Given the description of an element on the screen output the (x, y) to click on. 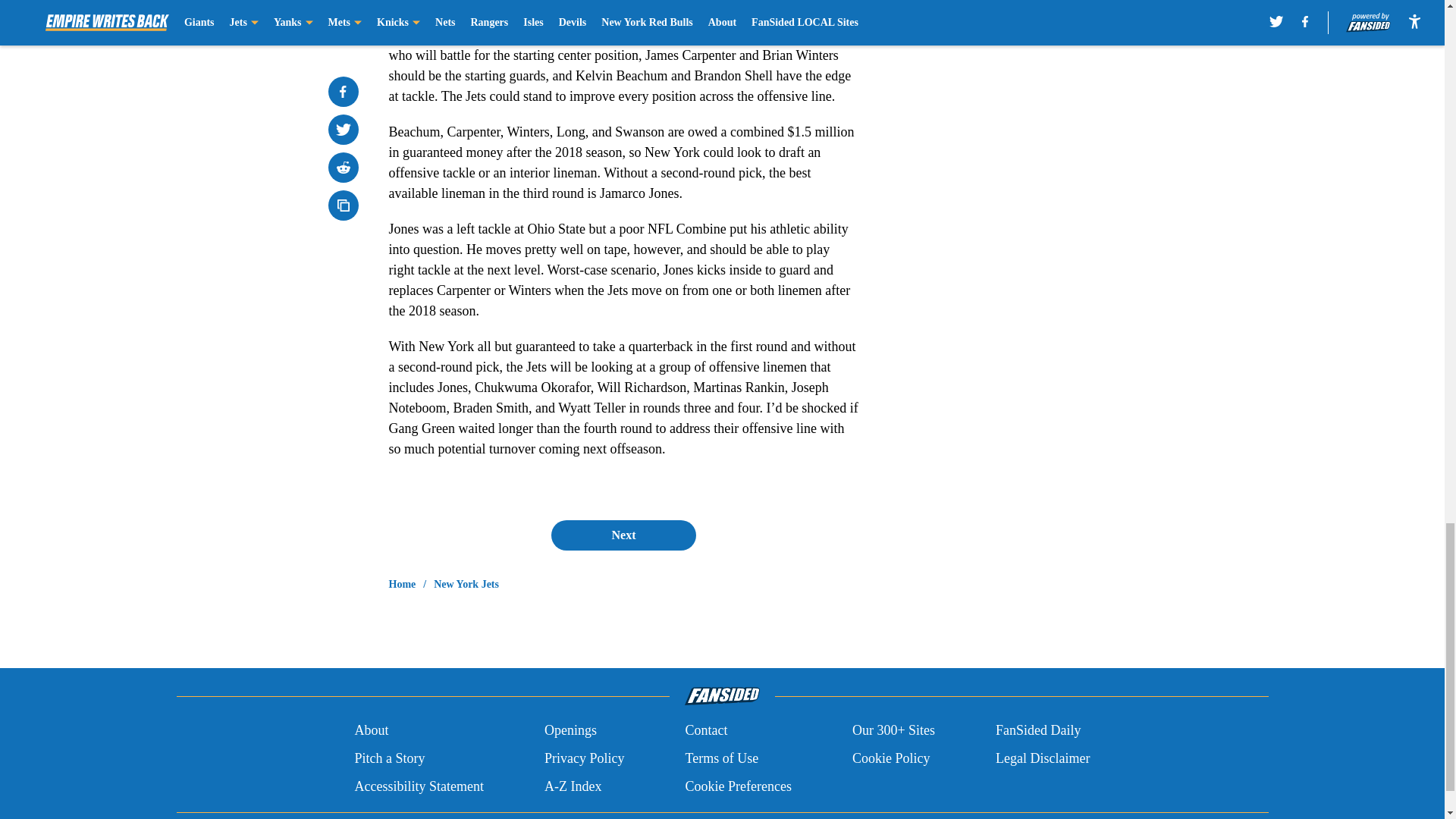
Openings (570, 730)
About (370, 730)
Contact (705, 730)
New York Jets (466, 584)
Next (622, 535)
Home (401, 584)
